Given the description of an element on the screen output the (x, y) to click on. 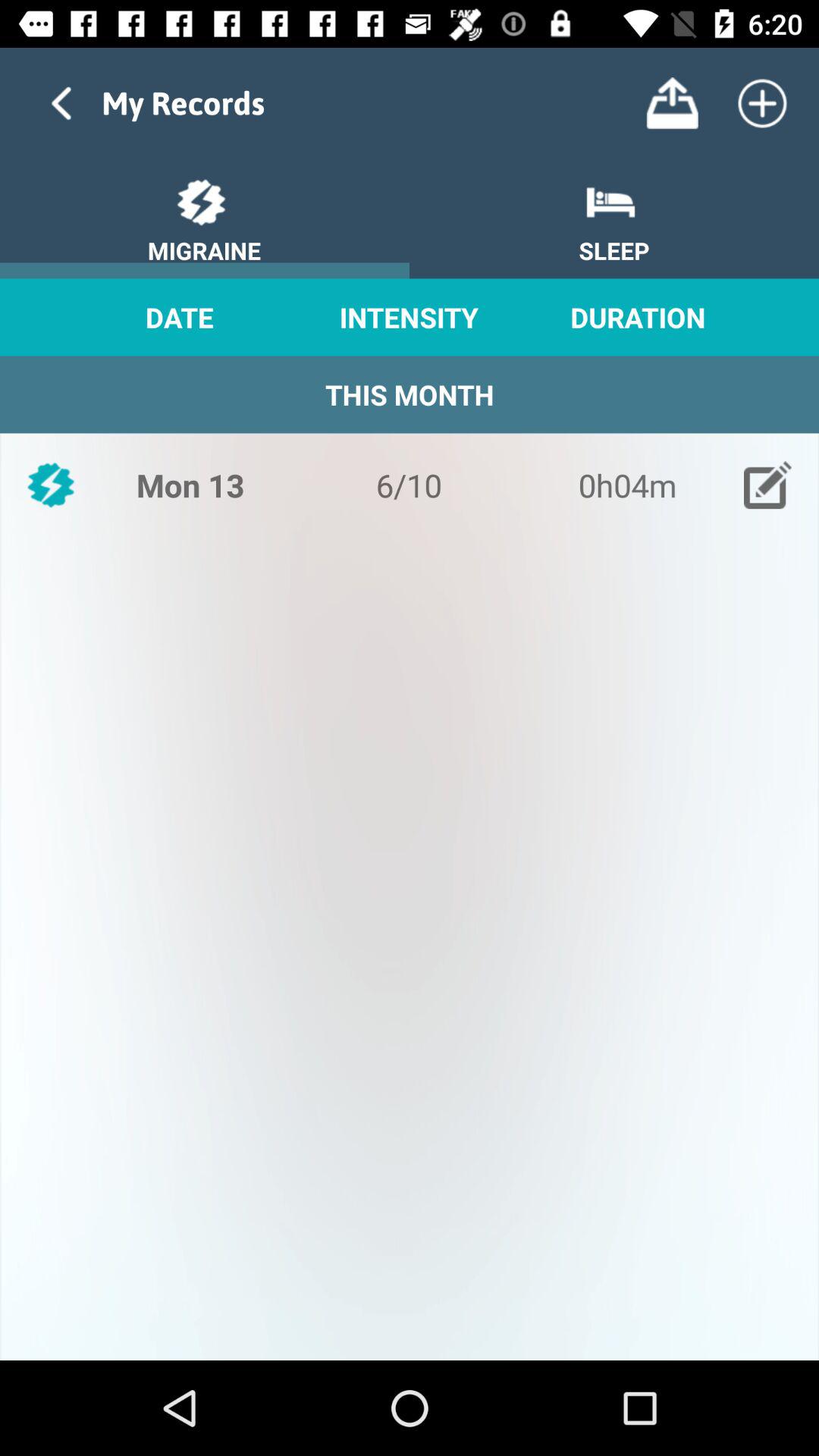
choose item next to the my records icon (672, 103)
